Given the description of an element on the screen output the (x, y) to click on. 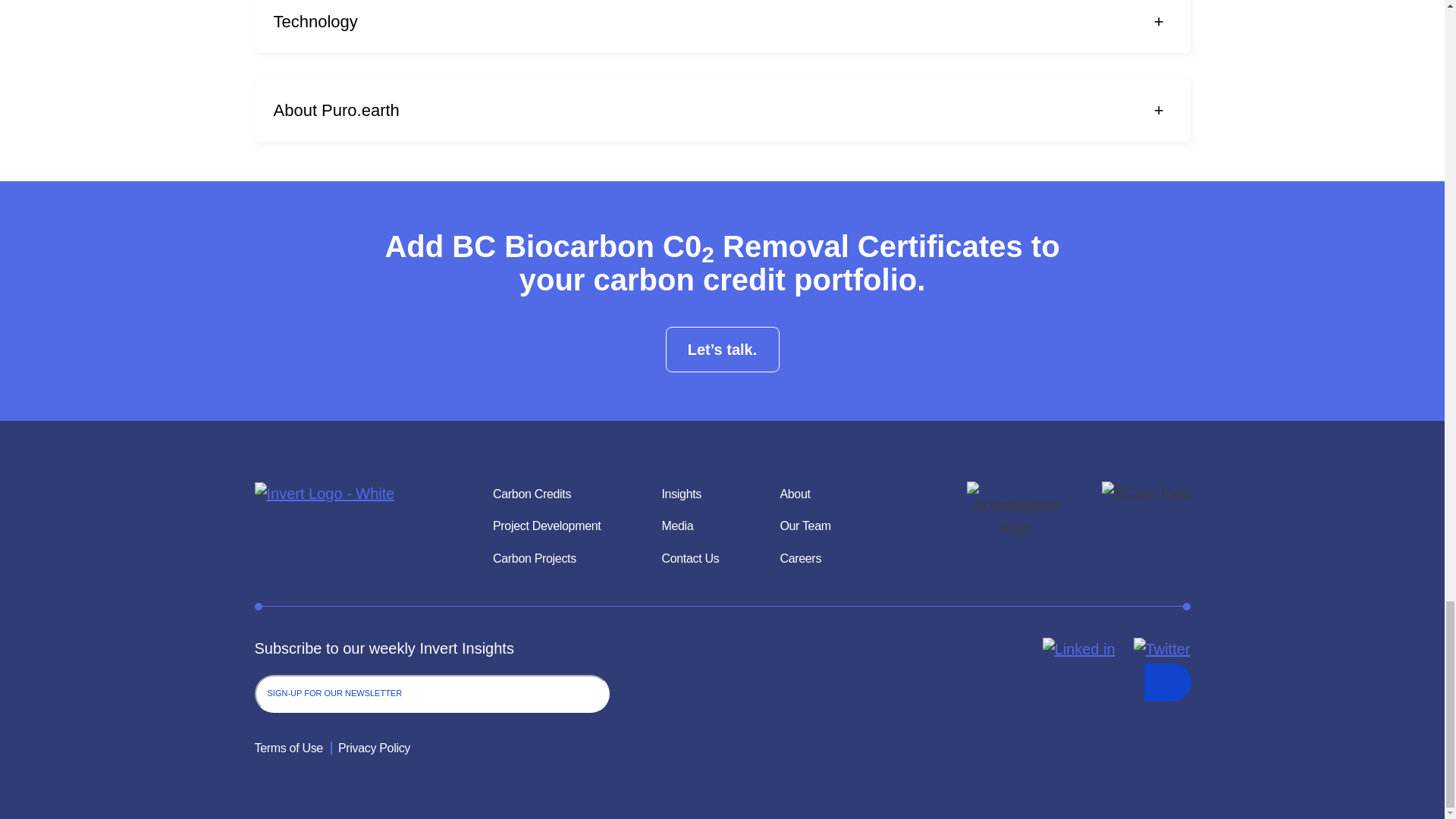
Contact Us (690, 558)
Privacy Policy (370, 748)
Carbon Credits (531, 494)
Carbon Projects (534, 558)
Insights (681, 494)
Subscribe (1166, 682)
Our Team (803, 525)
Subscribe (1166, 682)
Media (677, 525)
About (793, 494)
Project Development (546, 525)
Careers (799, 558)
Terms of Use (288, 748)
